Given the description of an element on the screen output the (x, y) to click on. 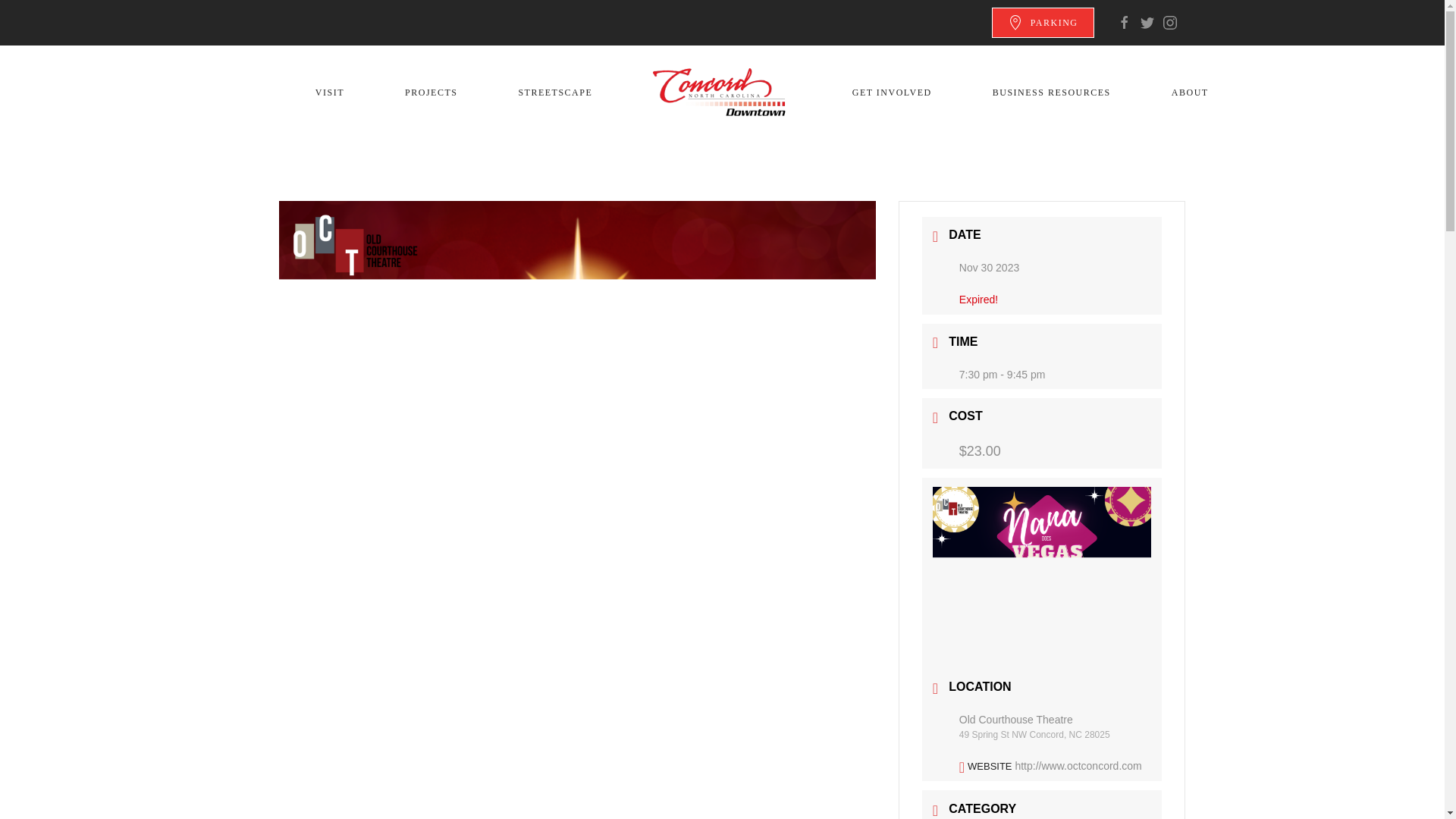
PARKING (1042, 22)
PROJECTS (430, 92)
VISIT (329, 92)
STREETSCAPE (555, 92)
